Given the description of an element on the screen output the (x, y) to click on. 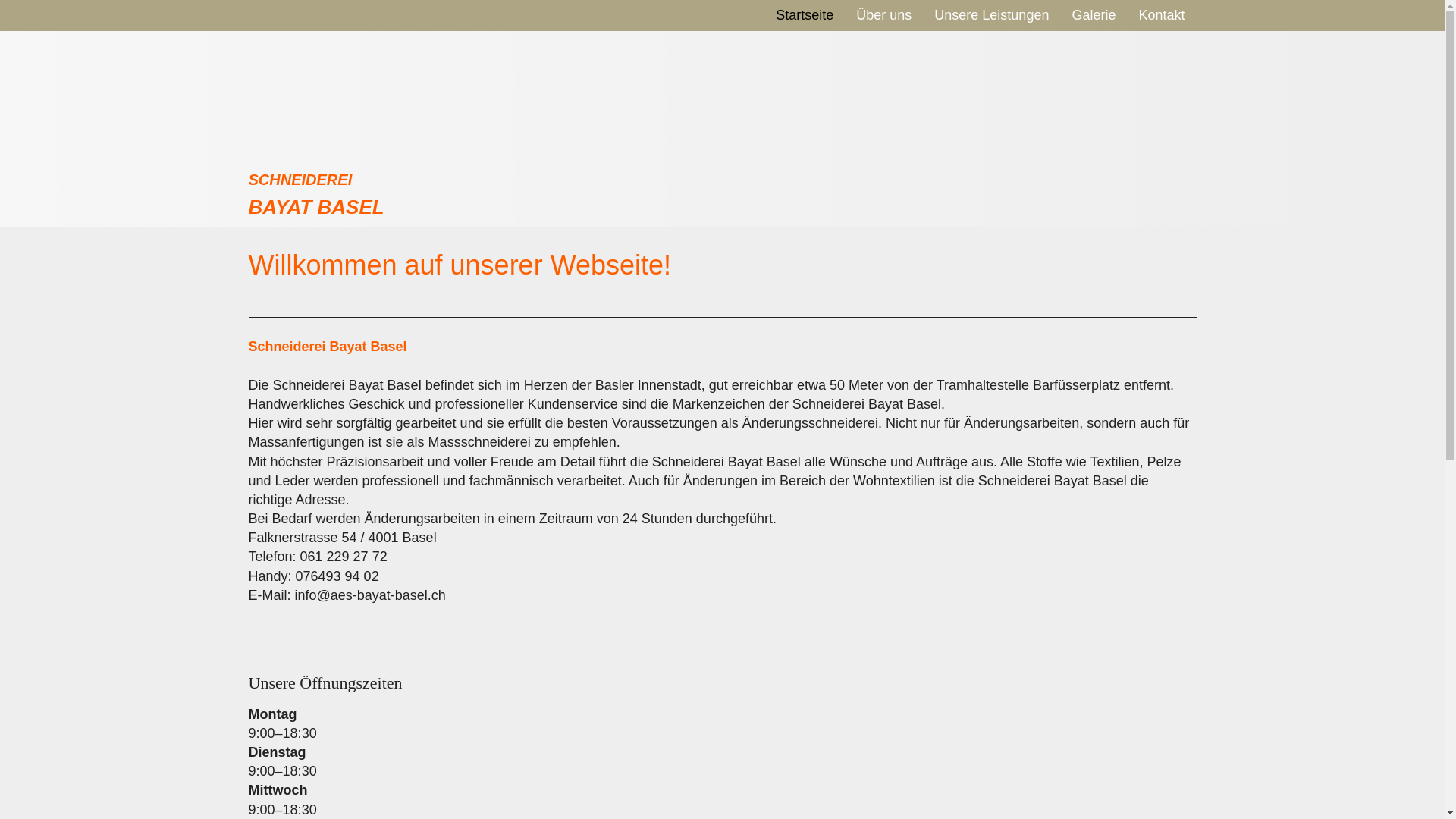
Startseite Element type: text (804, 14)
Galerie Element type: text (1093, 14)
Kontakt Element type: text (1161, 14)
Unsere Leistungen Element type: text (991, 14)
